Given the description of an element on the screen output the (x, y) to click on. 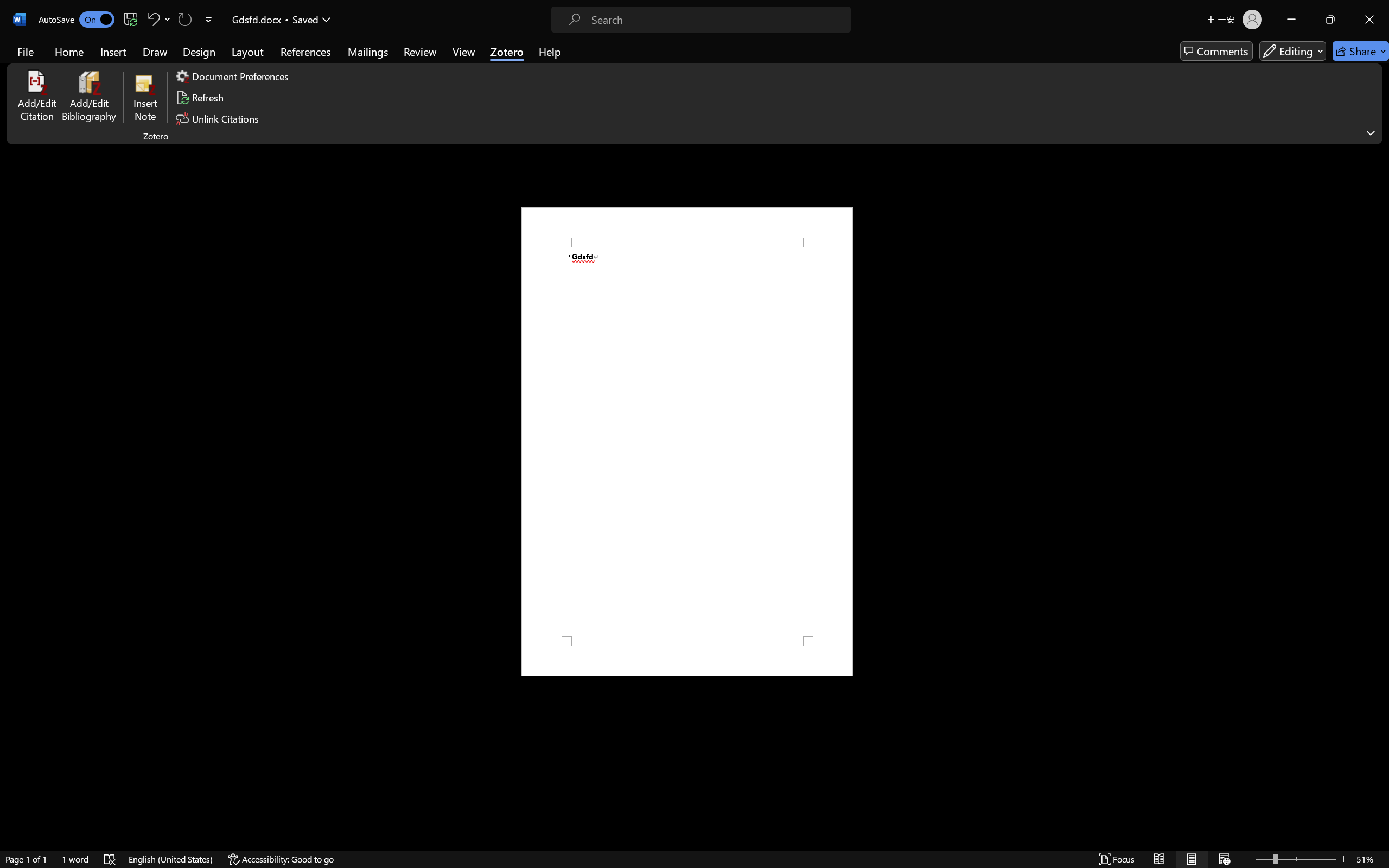
Page 1 content (686, 441)
